Given the description of an element on the screen output the (x, y) to click on. 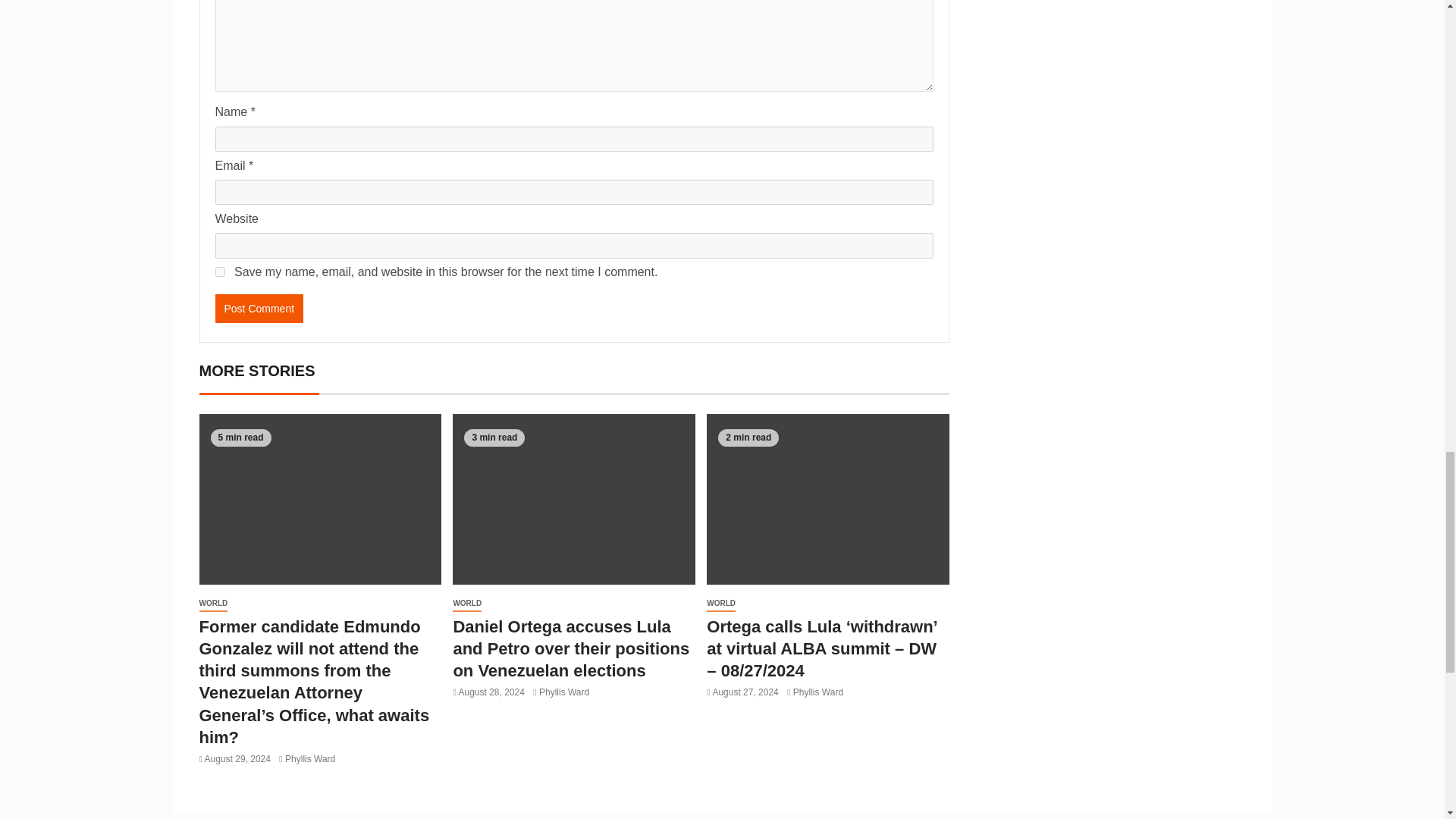
WORLD (212, 603)
Post Comment (259, 308)
Phyllis Ward (309, 758)
WORLD (466, 603)
yes (220, 271)
Post Comment (259, 308)
